Given the description of an element on the screen output the (x, y) to click on. 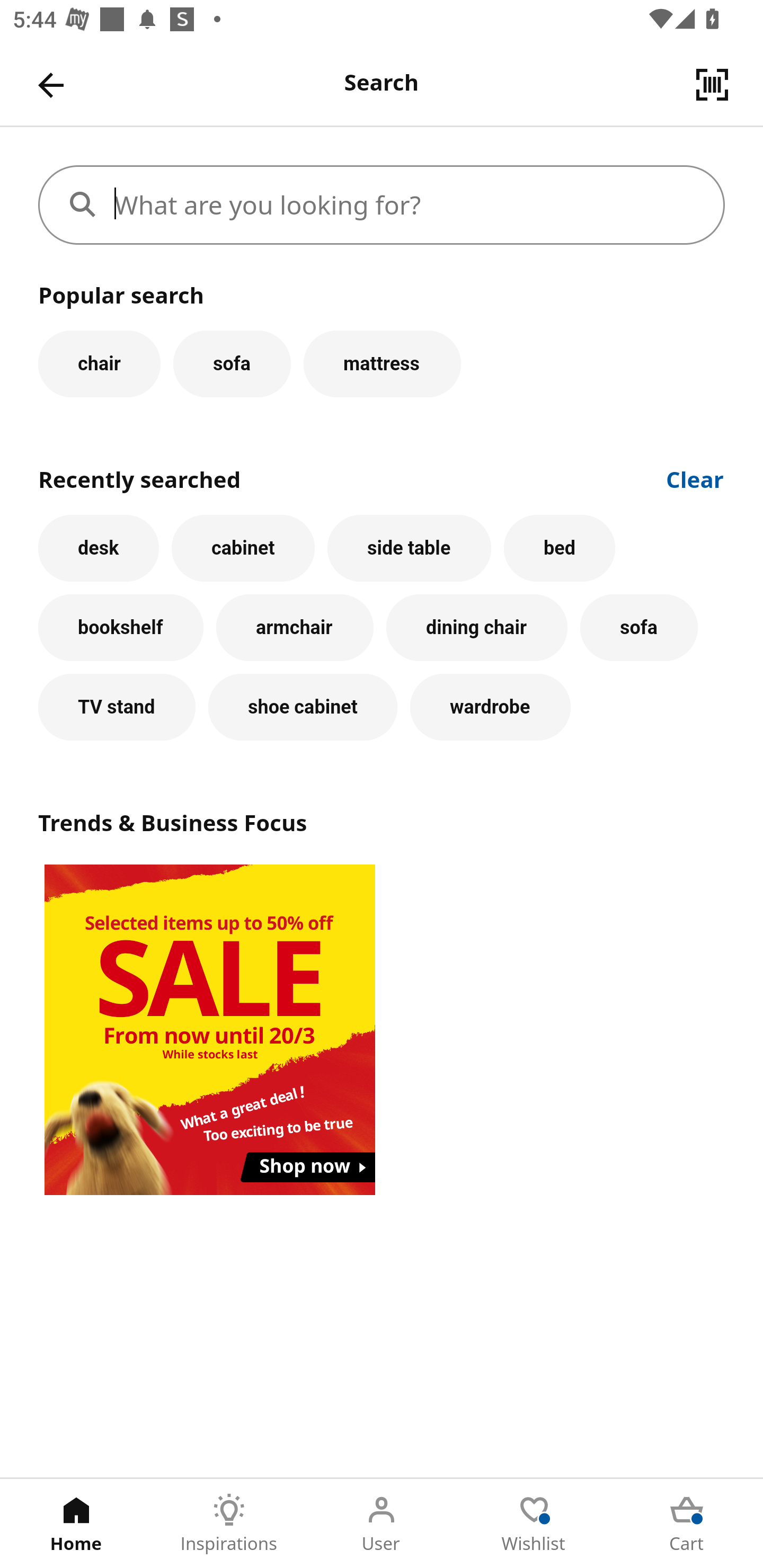
chair (99, 363)
sofa (231, 363)
mattress (381, 363)
Clear (695, 477)
desk (98, 547)
cabinet (242, 547)
side table (409, 547)
bed (558, 547)
bookshelf (120, 627)
armchair (294, 627)
dining chair (476, 627)
sofa (638, 627)
TV stand (116, 707)
shoe cabinet (302, 707)
wardrobe (490, 707)
Home
Tab 1 of 5 (76, 1522)
Inspirations
Tab 2 of 5 (228, 1522)
User
Tab 3 of 5 (381, 1522)
Wishlist
Tab 4 of 5 (533, 1522)
Cart
Tab 5 of 5 (686, 1522)
